Given the description of an element on the screen output the (x, y) to click on. 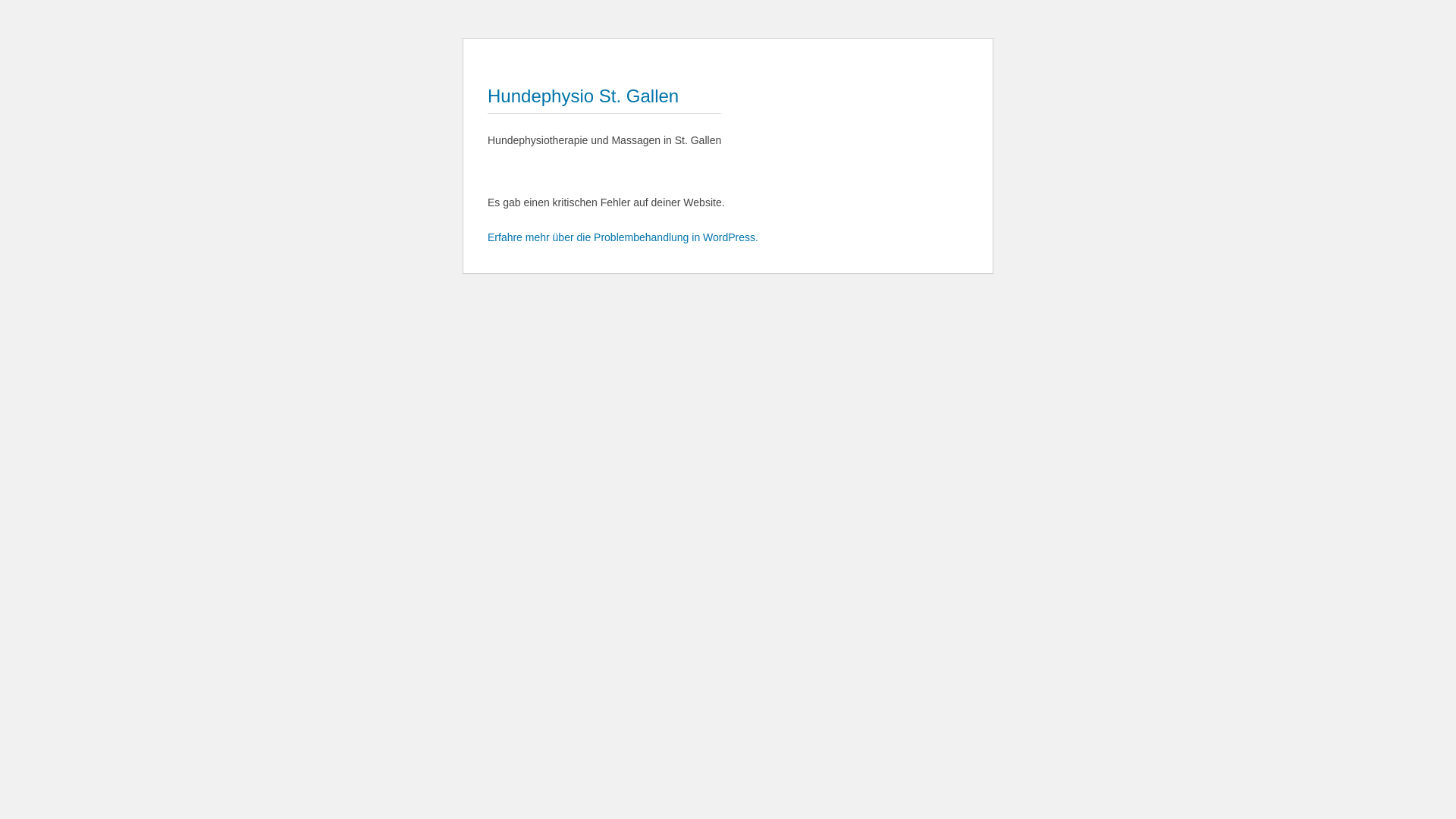
Zum Inhalt wechseln Element type: text (486, 50)
Hundephysio St. Gallen Element type: text (582, 95)
